Given the description of an element on the screen output the (x, y) to click on. 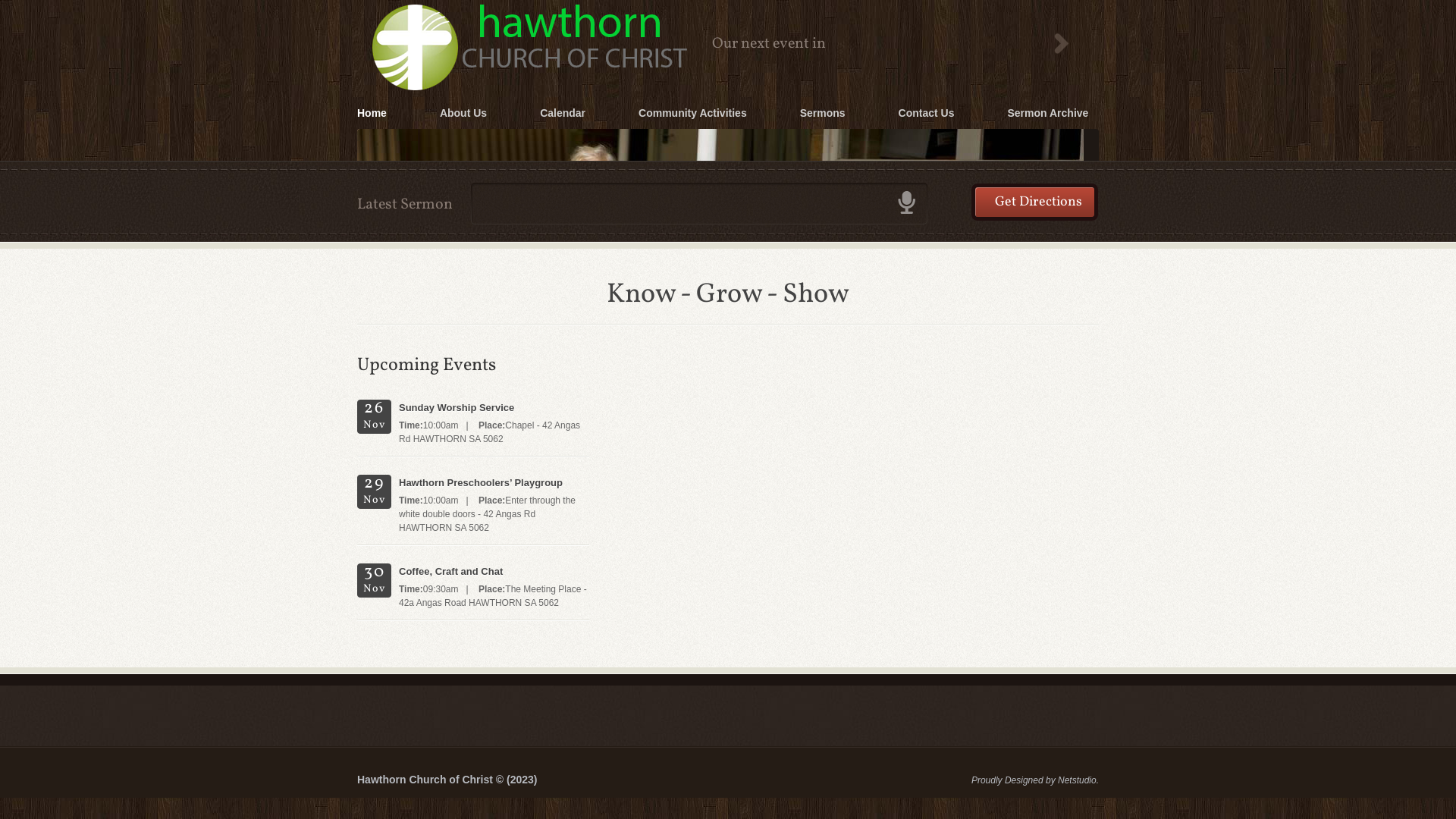
Coffee Craft and chat Element type: text (623, 141)
Sermon Archive Element type: text (1020, 115)
Get Directions Element type: text (1034, 201)
Hawthorn Church of Christ Element type: hover (727, 1)
Home Element type: text (371, 115)
View Event: Element type: text (1061, 43)
Sermons Element type: text (795, 115)
Playgroup 10am-12pm Wednesdays Element type: text (464, 141)
Calendar Element type: text (535, 115)
Coffee, Craft and Chat Element type: text (493, 571)
Community Activities Element type: text (665, 115)
About Us Element type: text (436, 115)
Proudly Designed by Netstudio. Element type: text (1015, 783)
Sunday Worship Service Element type: text (493, 407)
Contact Us Element type: text (899, 115)
